Given the description of an element on the screen output the (x, y) to click on. 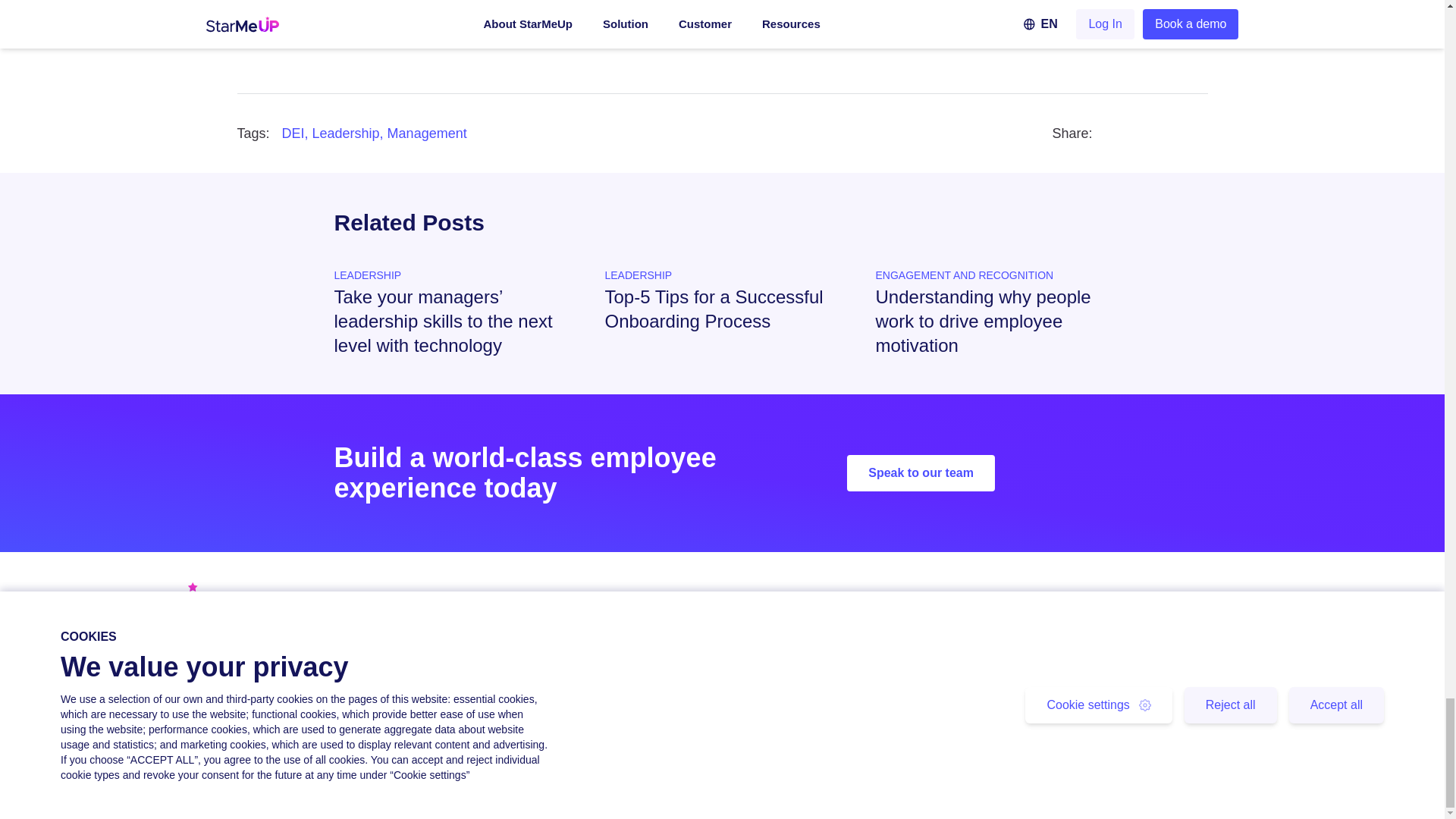
Instagram (169, 662)
Discover how! (985, 37)
Twitter (128, 662)
Facebook (89, 662)
LinkedIn (50, 662)
Medium (208, 662)
